Given the description of an element on the screen output the (x, y) to click on. 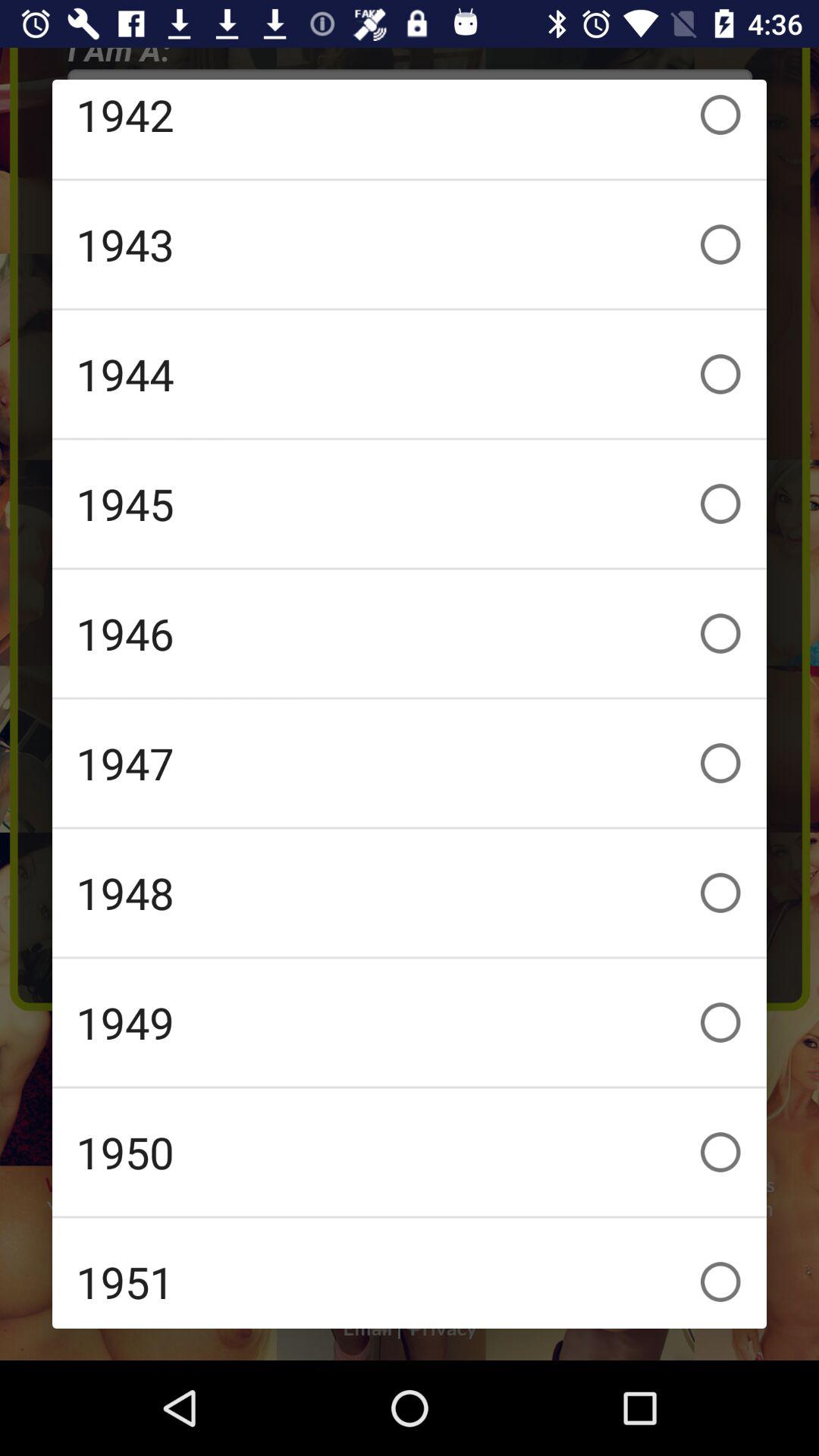
turn off item above the 1948 item (409, 762)
